Given the description of an element on the screen output the (x, y) to click on. 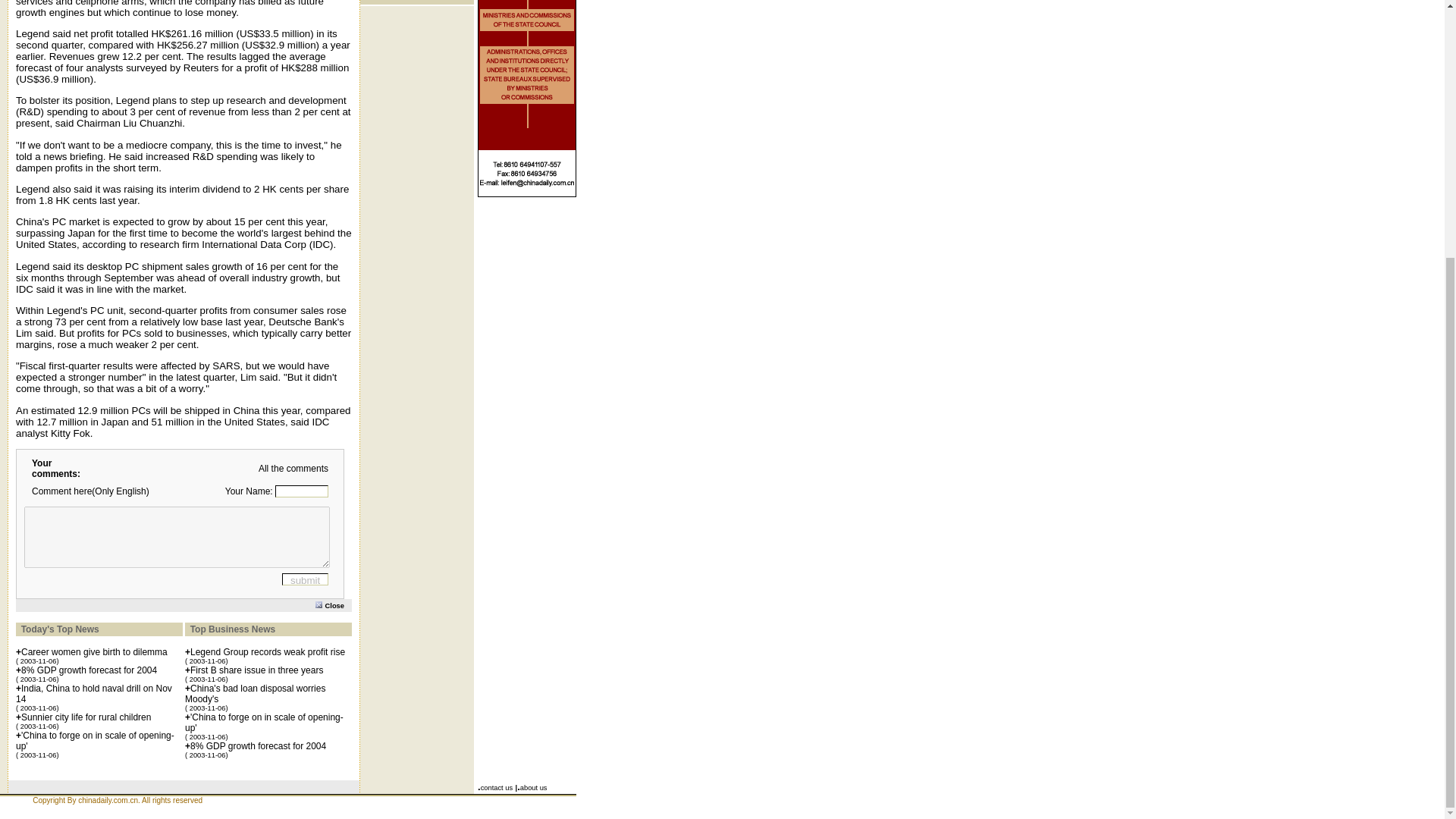
contact us (496, 787)
India, China to hold naval drill on Nov 14 (93, 693)
 submit  (305, 579)
China's bad loan disposal worries Moody's (254, 693)
'China to forge on in scale of opening-up' (95, 740)
Sunnier city life for rural children (86, 716)
Close (333, 604)
First B share issue in three years (256, 670)
Career women give birth to dilemma (94, 652)
 submit  (305, 579)
